Given the description of an element on the screen output the (x, y) to click on. 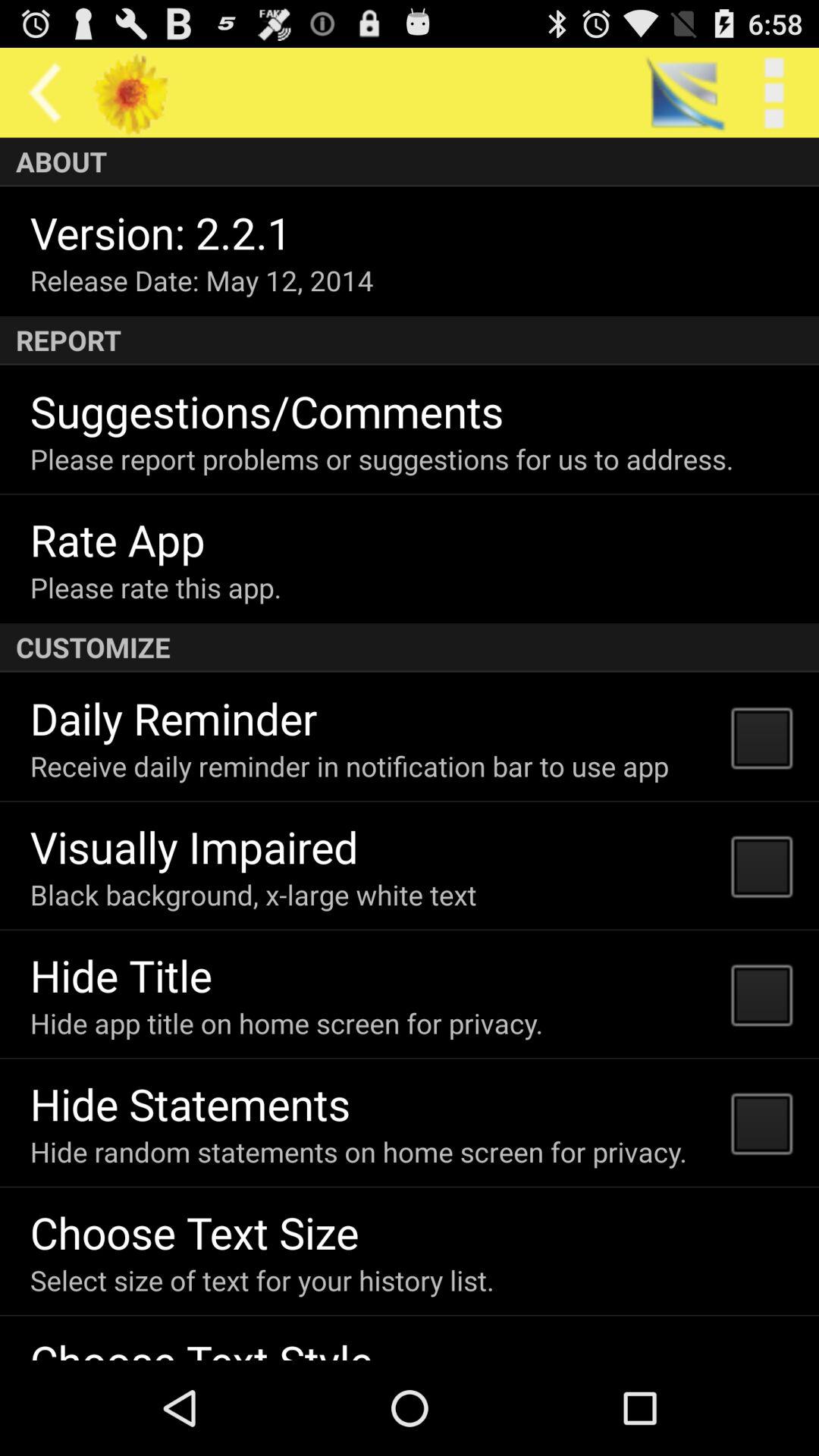
press the icon above the black background x icon (194, 846)
